Given the description of an element on the screen output the (x, y) to click on. 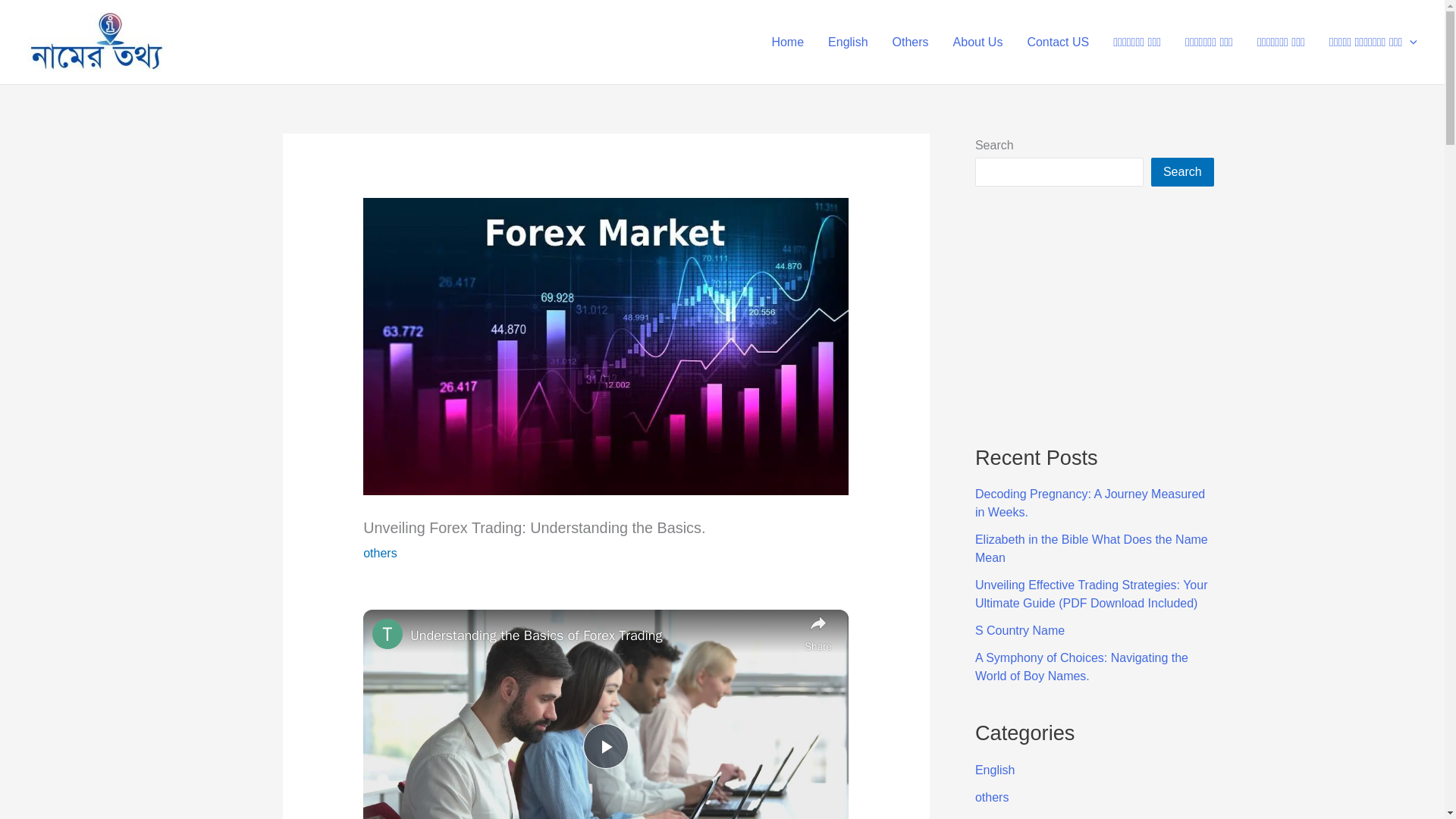
Home (786, 42)
Play Video (605, 746)
English (847, 42)
Others (910, 42)
About Us (977, 42)
Contact US (1057, 42)
